Given the description of an element on the screen output the (x, y) to click on. 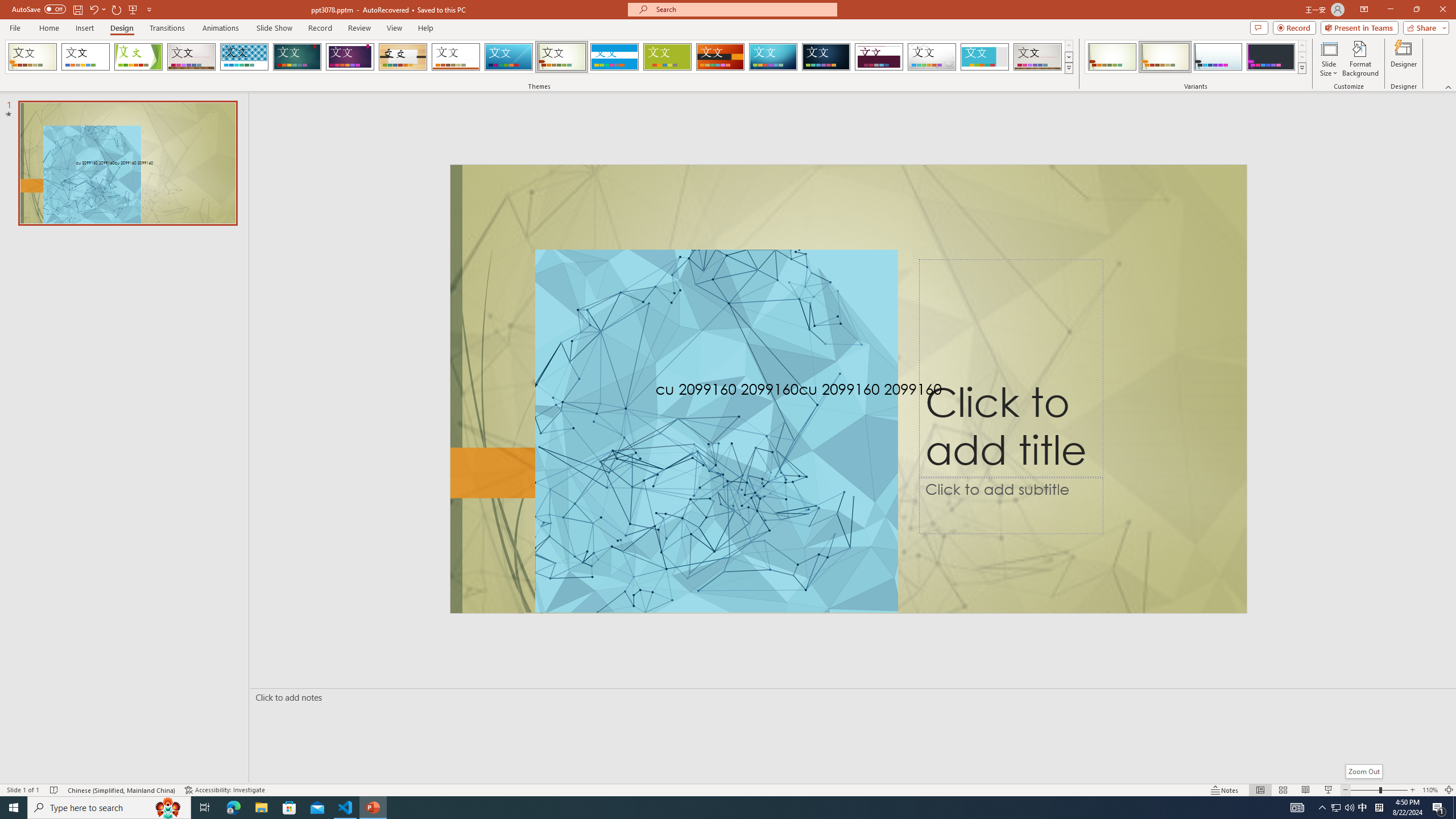
Wisp Variant 1 (1112, 56)
Droplet Loading Preview... (931, 56)
Organic Loading Preview... (403, 56)
Gallery Loading Preview... (1037, 56)
